Given the description of an element on the screen output the (x, y) to click on. 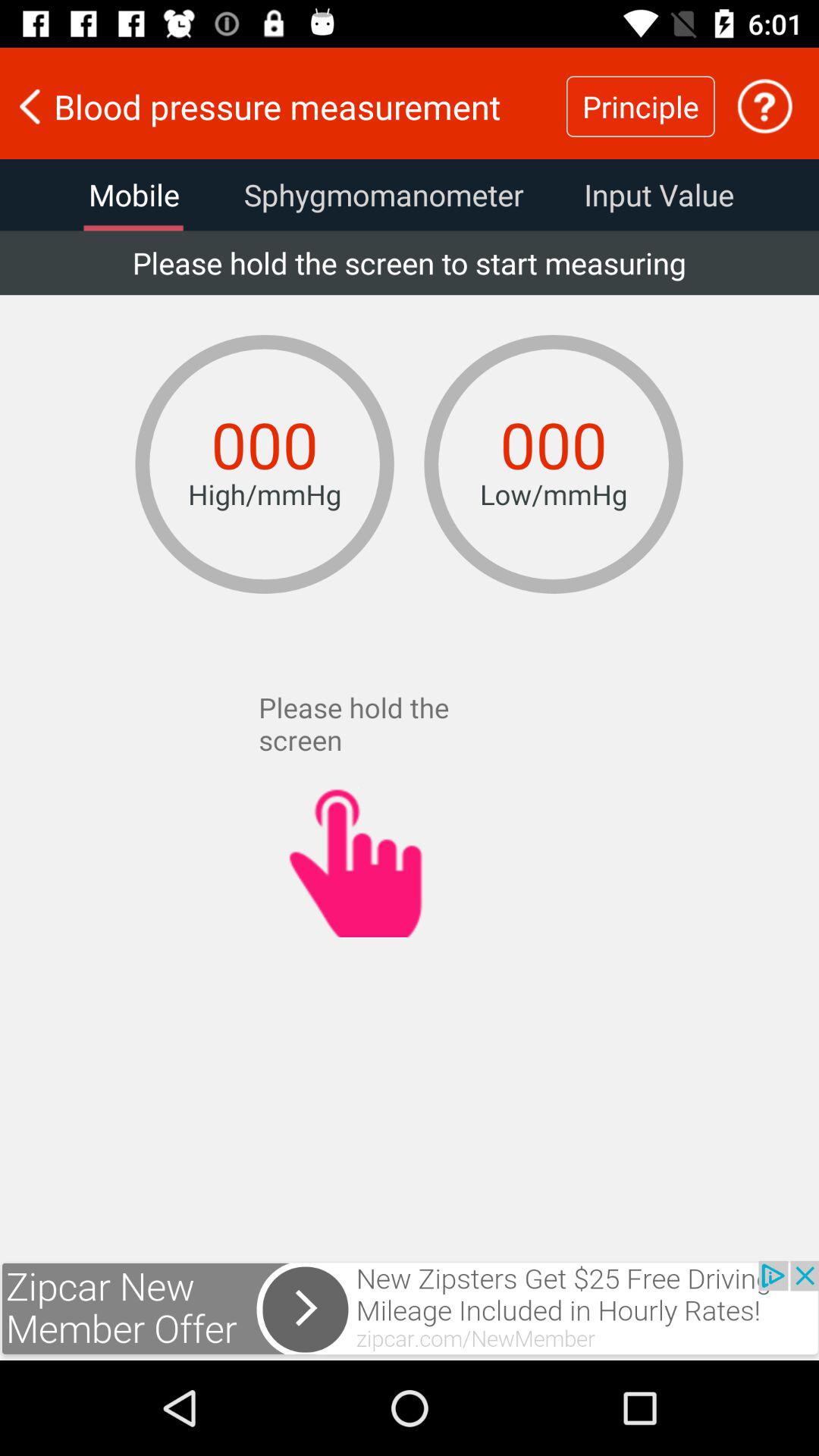
help (764, 106)
